Given the description of an element on the screen output the (x, y) to click on. 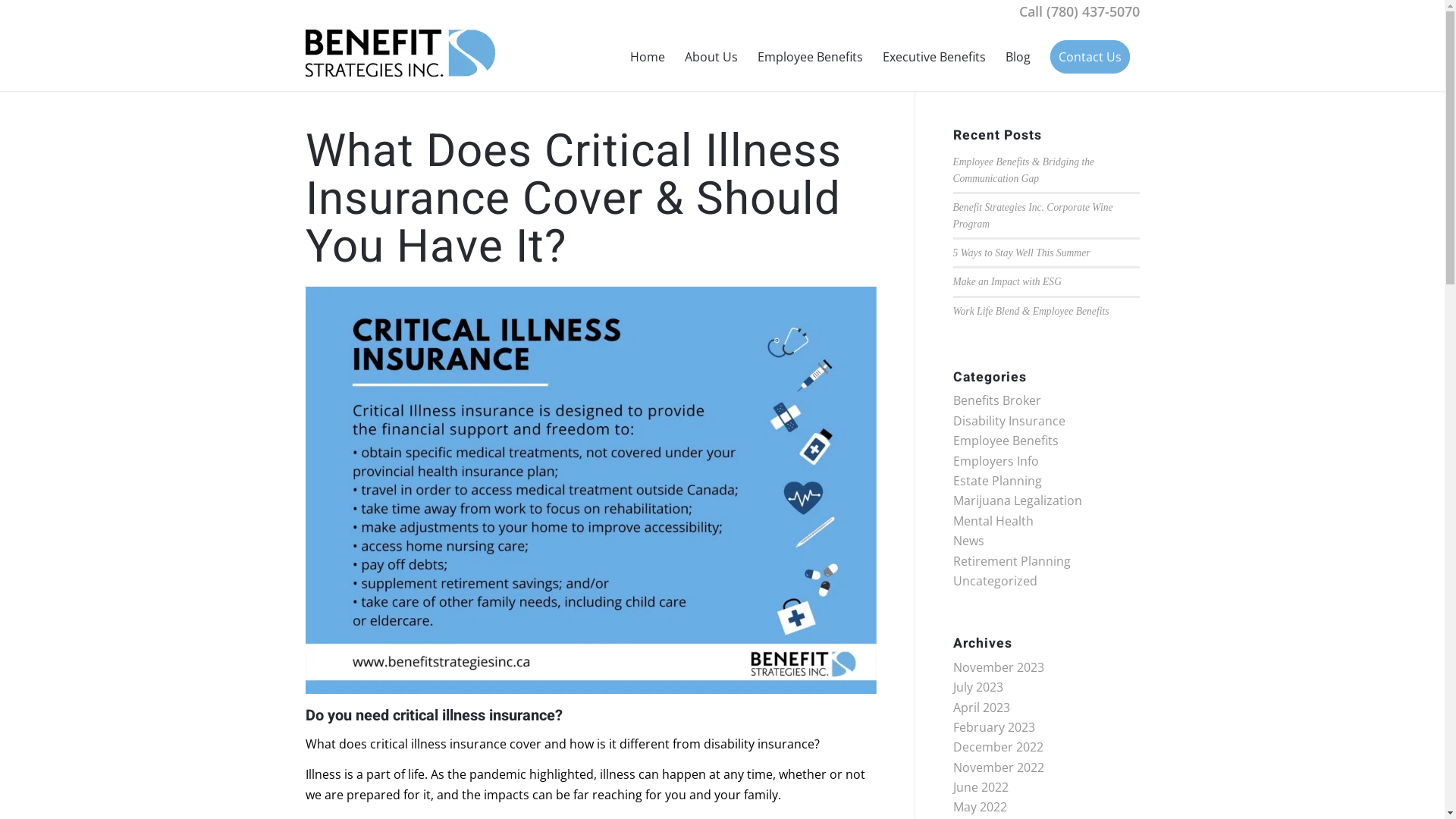
Retirement Planning Element type: text (1011, 560)
Disability Insurance Element type: text (1008, 420)
Benefit Strategies Inc. Corporate Wine Program Element type: text (1032, 215)
December 2022 Element type: text (997, 746)
Estate Planning Element type: text (996, 480)
July 2023 Element type: text (977, 686)
Executive Benefits Element type: text (933, 56)
June 2022 Element type: text (979, 786)
Benefits Broker Element type: text (996, 400)
May 2022 Element type: text (979, 806)
criticalillness Element type: hover (589, 492)
News Element type: text (967, 540)
Blog Element type: text (1016, 56)
November 2023 Element type: text (997, 666)
Employers Info Element type: text (995, 460)
Benefit-Strategies-Logo Element type: hover (399, 52)
Employee Benefits Element type: text (1004, 440)
April 2023 Element type: text (980, 707)
Employee Benefits & Bridging the Communication Gap Element type: text (1023, 169)
Uncategorized Element type: text (994, 580)
Home Element type: text (647, 56)
Call (780) 437-5070 Element type: text (1079, 11)
Employee Benefits Element type: text (809, 56)
Work Life Blend & Employee Benefits Element type: text (1030, 310)
About Us Element type: text (710, 56)
5 Ways to Stay Well This Summer Element type: text (1020, 252)
Mental Health Element type: text (992, 520)
Marijuana Legalization Element type: text (1016, 500)
Make an Impact with ESG Element type: text (1006, 281)
November 2022 Element type: text (997, 767)
Contact Us Element type: text (1089, 56)
February 2023 Element type: text (993, 726)
